Given the description of an element on the screen output the (x, y) to click on. 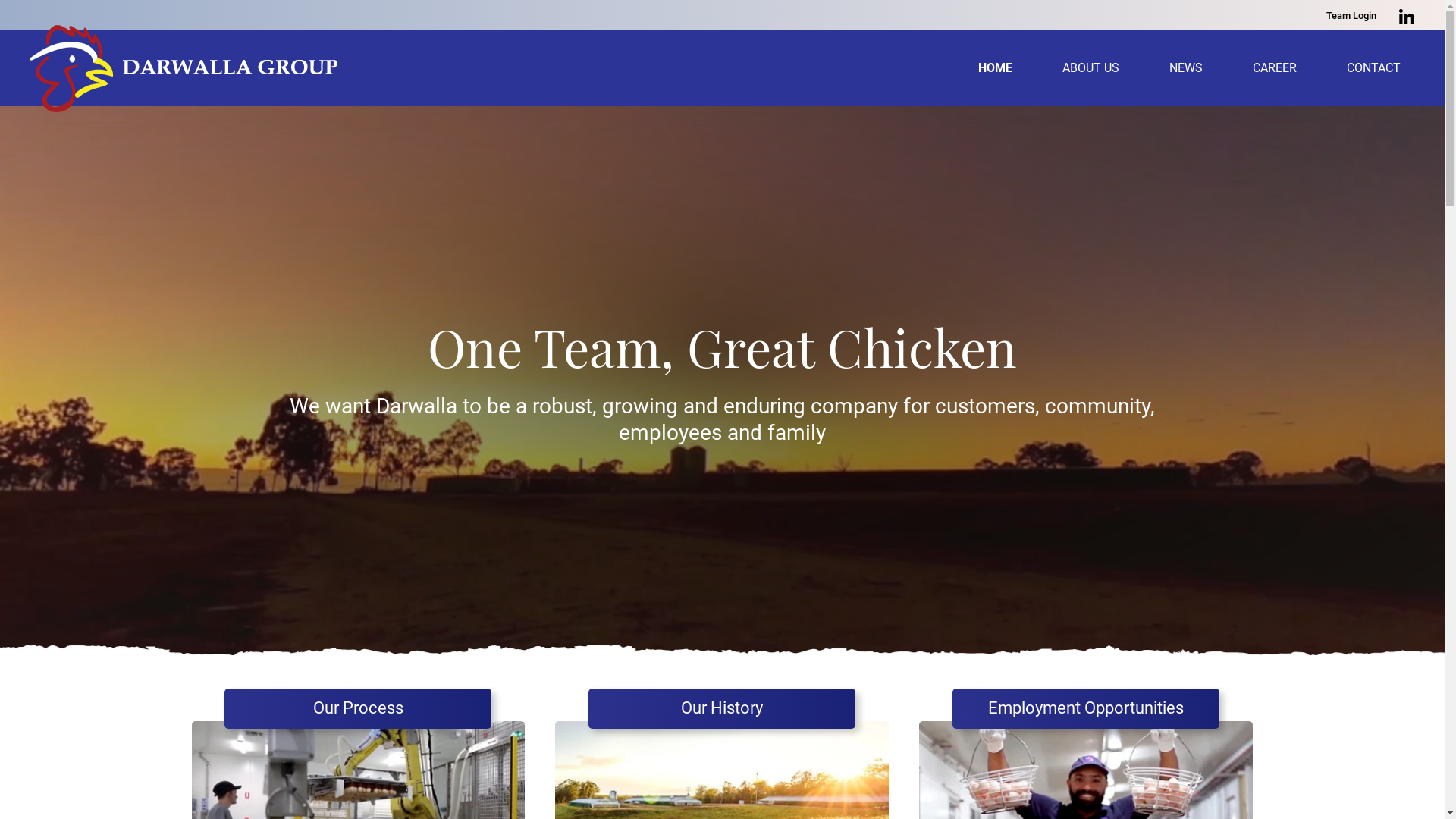
HOME Element type: text (995, 68)
ABOUT US Element type: text (1090, 68)
Team Login Element type: text (1351, 15)
NEWS Element type: text (1185, 68)
CONTACT Element type: text (1373, 68)
CAREER Element type: text (1274, 68)
